Given the description of an element on the screen output the (x, y) to click on. 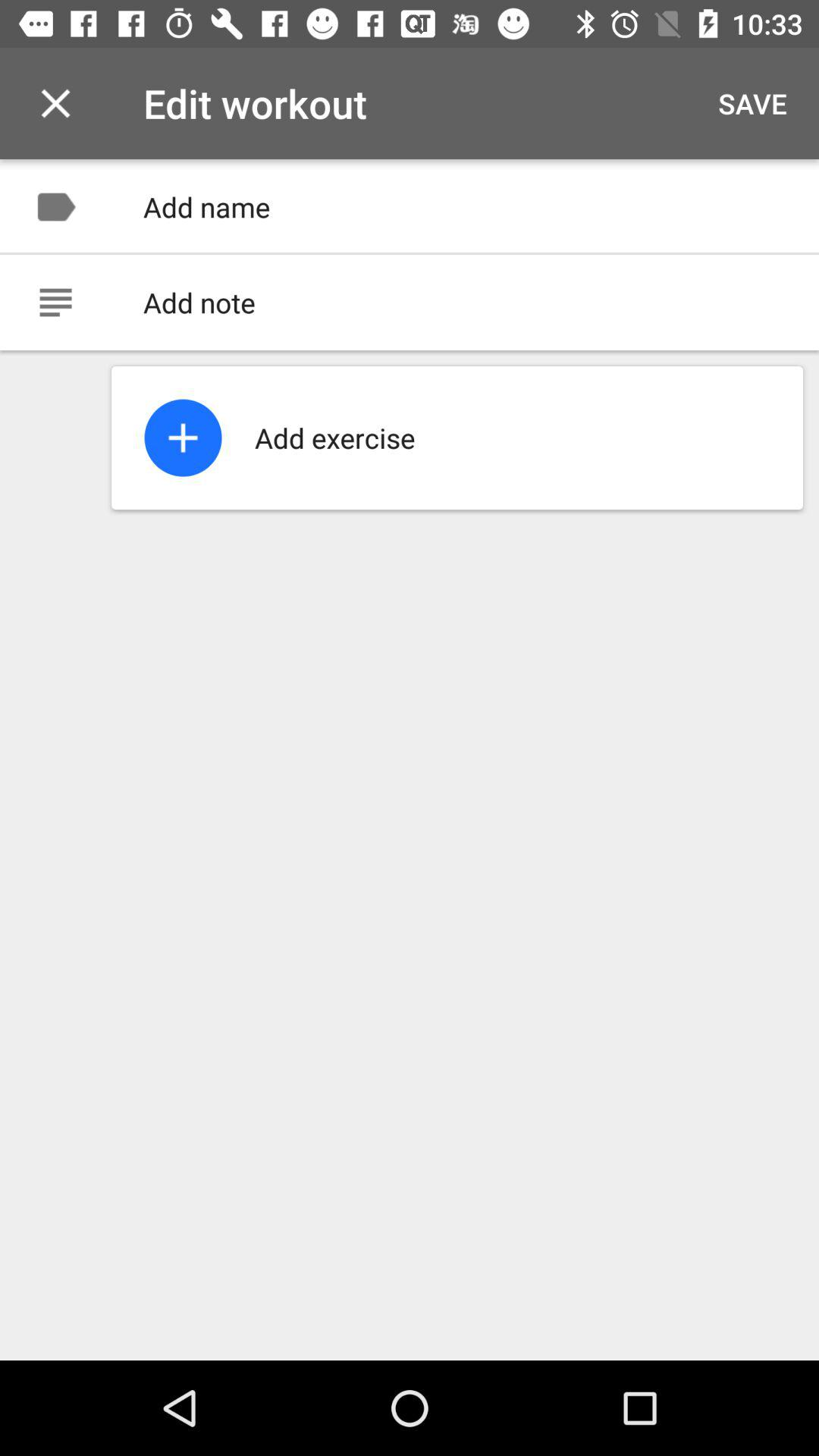
select the icon next to the edit workout item (752, 103)
